Given the description of an element on the screen output the (x, y) to click on. 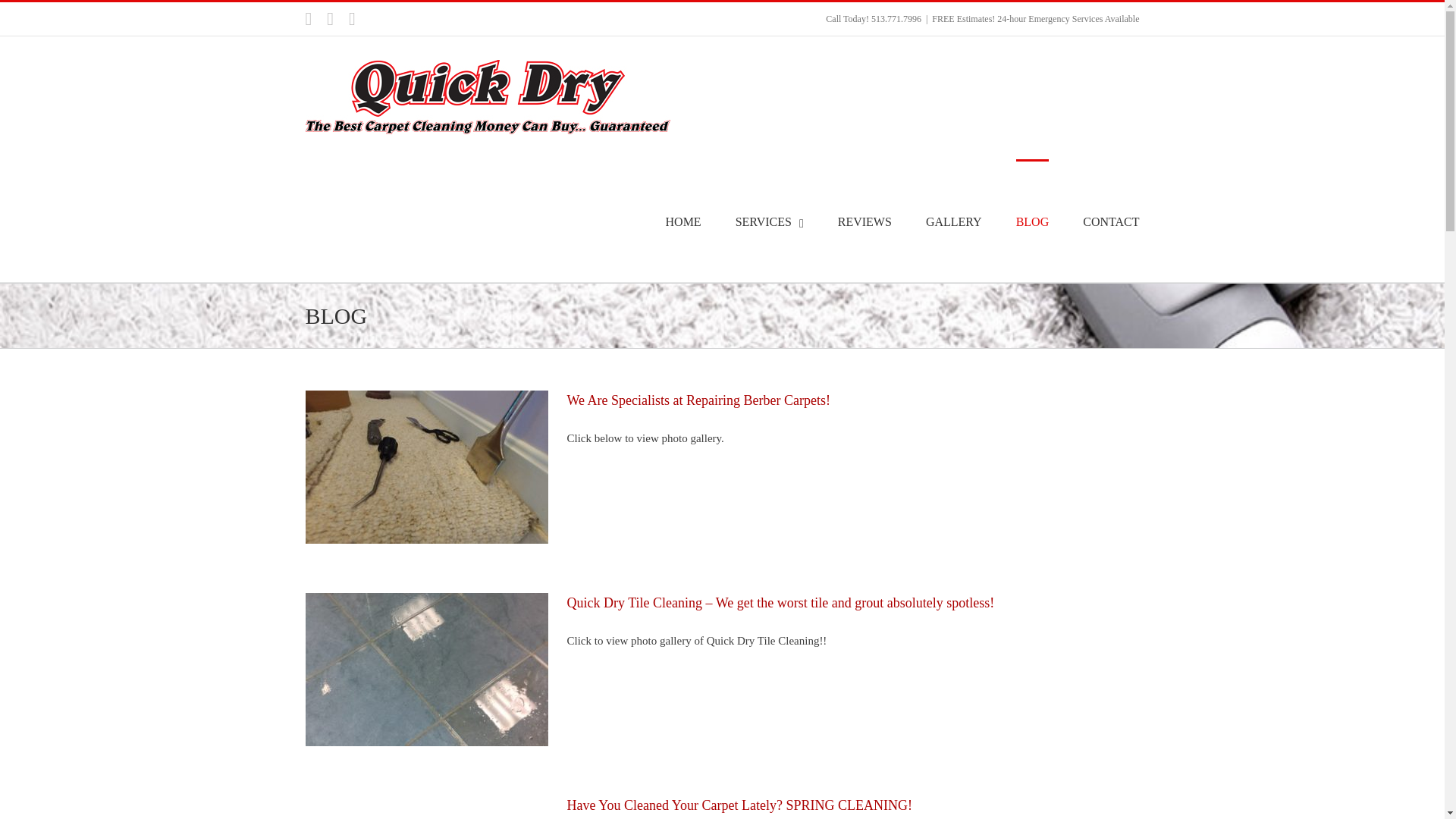
FREE Estimates! 24-hour Emergency Services Available (1034, 18)
